Given the description of an element on the screen output the (x, y) to click on. 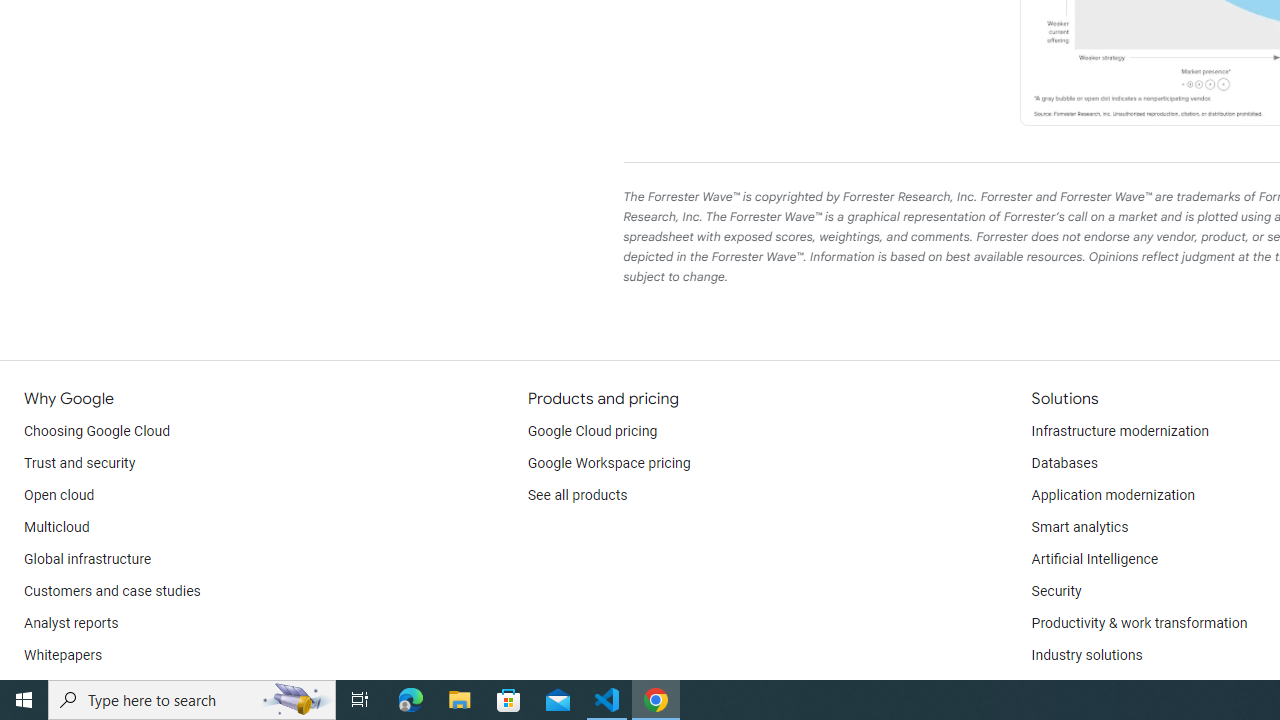
Infrastructure modernization (1119, 431)
Industry solutions (1086, 655)
Choosing Google Cloud (97, 431)
Multicloud (56, 527)
Google Cloud pricing (592, 431)
Analyst reports (71, 623)
Artificial Intelligence (1094, 560)
